Given the description of an element on the screen output the (x, y) to click on. 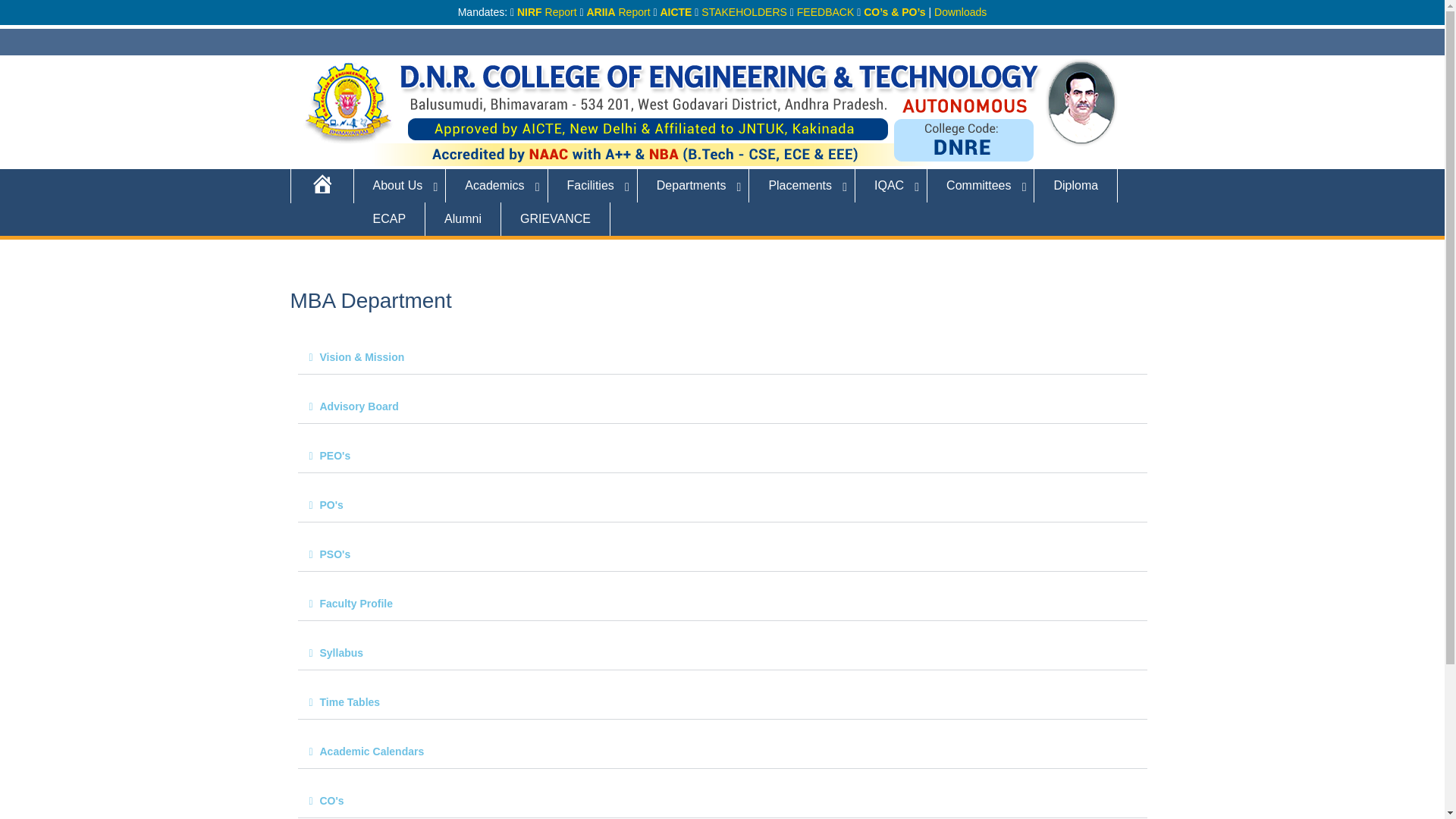
FEEDBACK (824, 11)
Facilities (592, 185)
ARIIA Report (617, 11)
Home (321, 185)
STAKEHOLDERS (744, 11)
Departments (693, 185)
Downloads (960, 11)
About Us (399, 185)
AICTE (675, 11)
Academics (496, 185)
NIRF Report (546, 11)
